Given the description of an element on the screen output the (x, y) to click on. 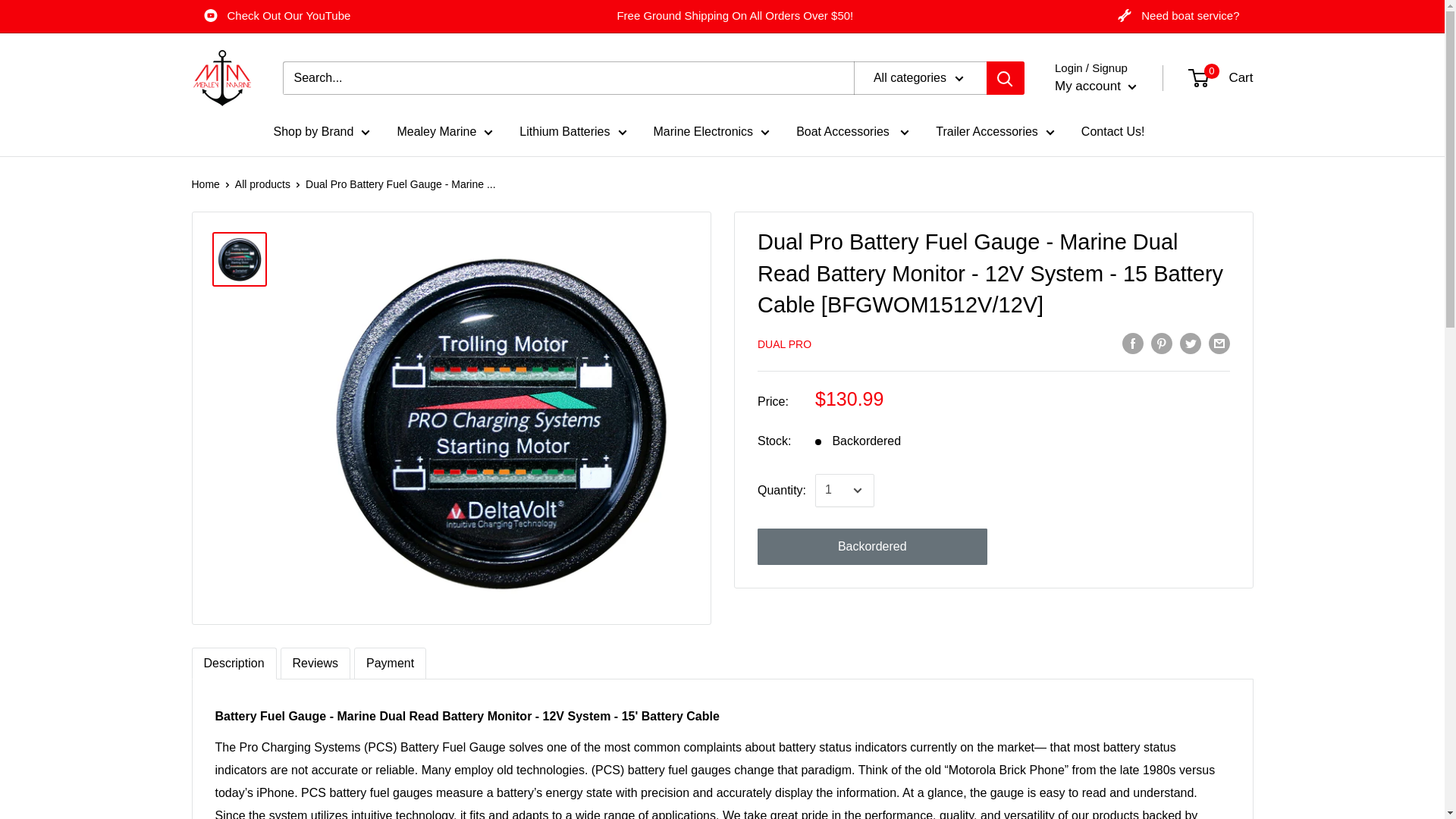
Need boat service? (1178, 15)
Check Out Our YouTube (277, 15)
